Given the description of an element on the screen output the (x, y) to click on. 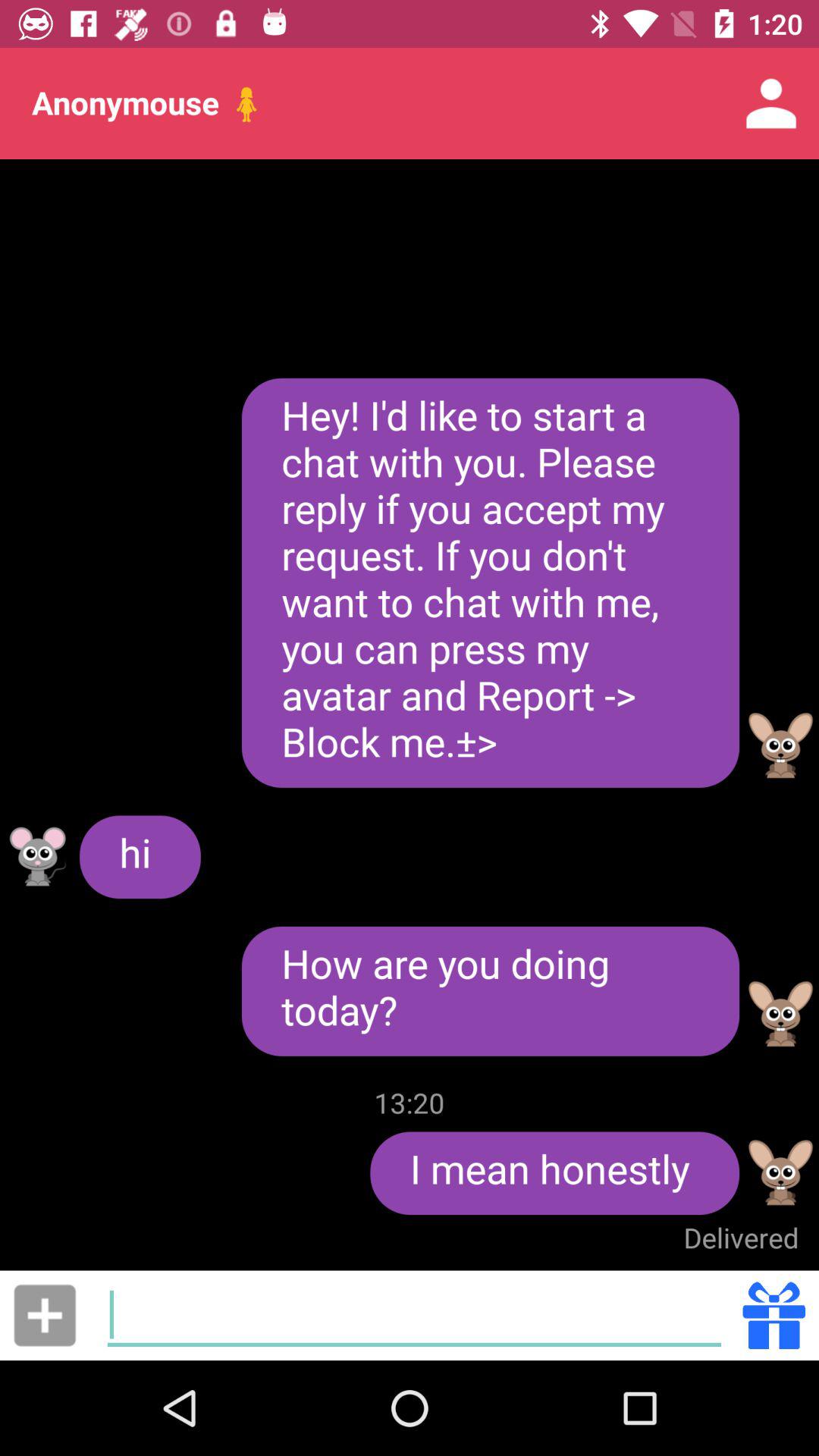
profile avatar (780, 1172)
